Given the description of an element on the screen output the (x, y) to click on. 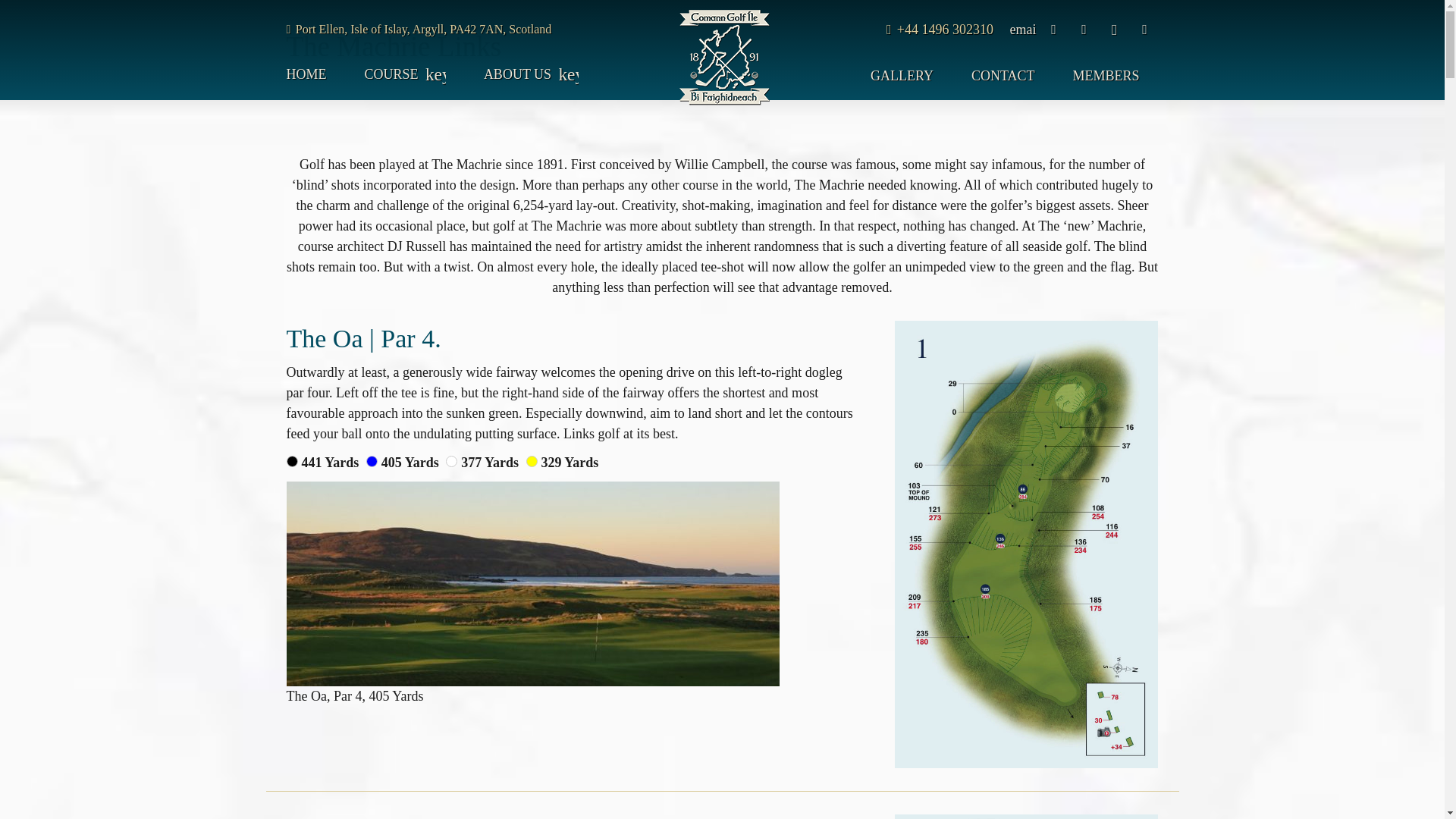
Email (1023, 29)
HOME (316, 74)
Instagram (1114, 29)
YouTube (1144, 29)
Twitter (1083, 29)
GALLERY (901, 75)
Facebook (1054, 29)
COURSE (405, 74)
ABOUT US (531, 74)
CONTACT (1003, 75)
